Given the description of an element on the screen output the (x, y) to click on. 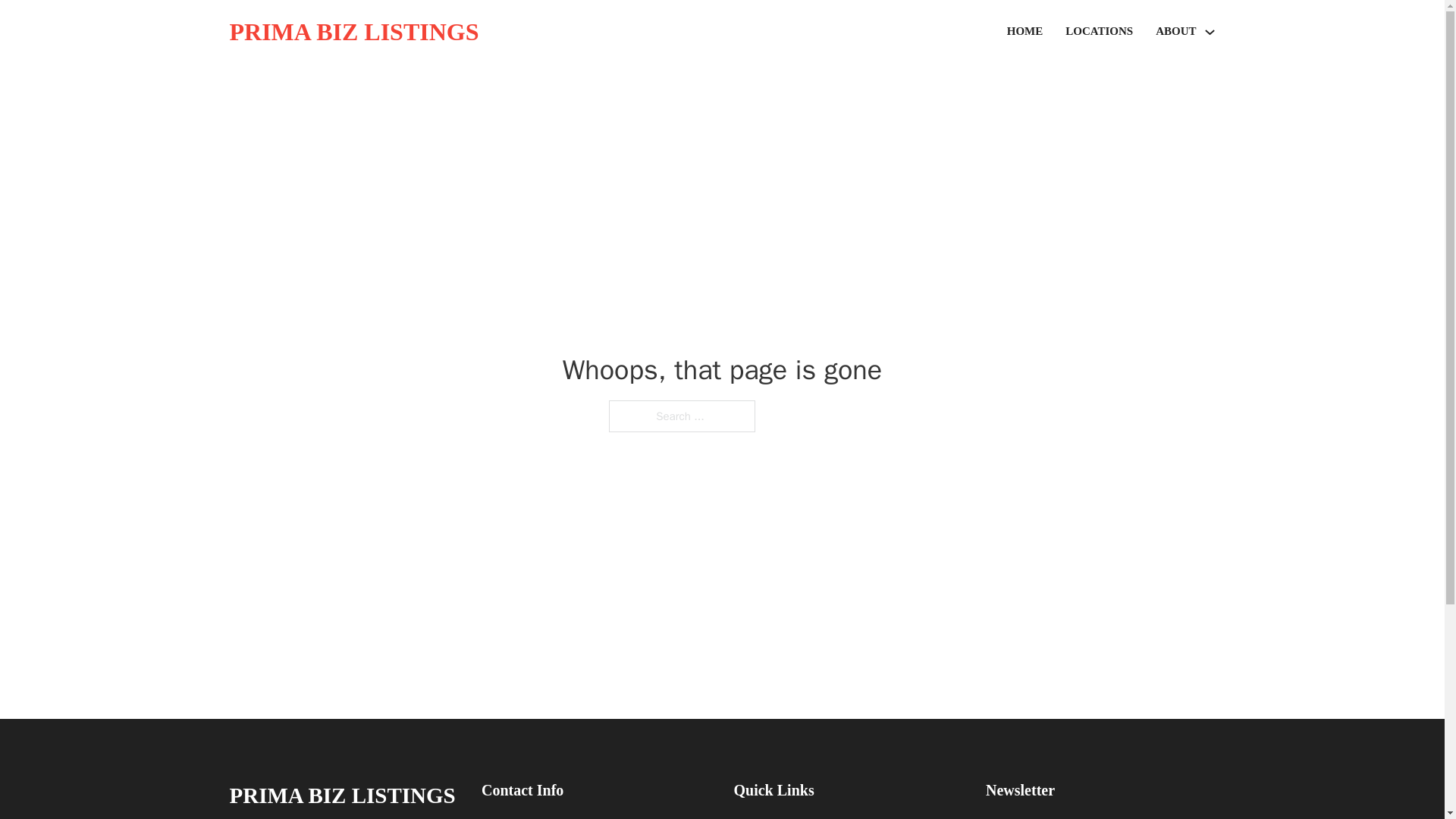
LOCATIONS (1098, 31)
PRIMA BIZ LISTINGS (341, 795)
HOME (1025, 31)
PRIMA BIZ LISTINGS (353, 31)
